Given the description of an element on the screen output the (x, y) to click on. 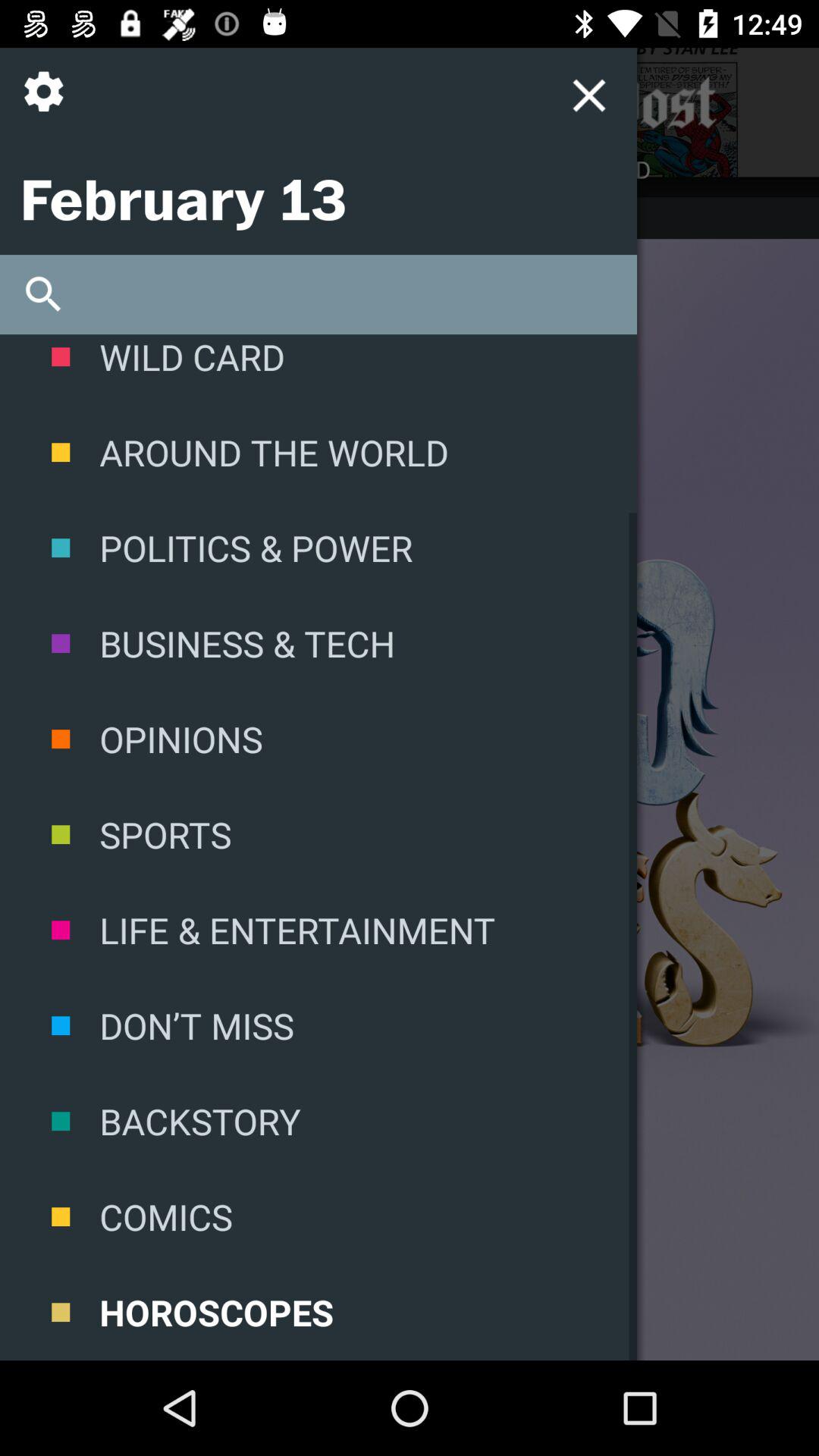
scroll until business & tech icon (318, 643)
